Given the description of an element on the screen output the (x, y) to click on. 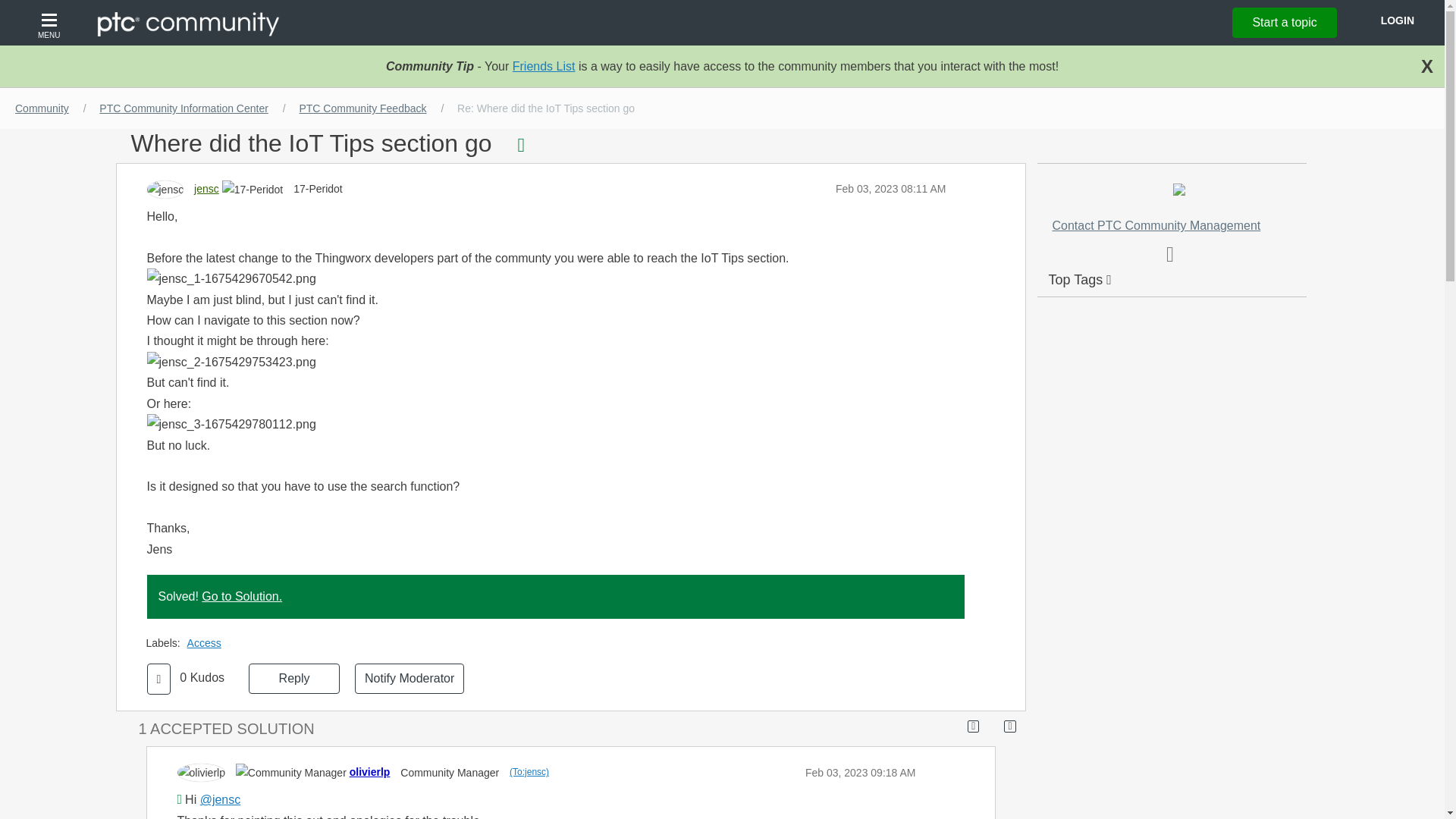
PTC Community Feedback (362, 108)
Reply (293, 678)
jensc (206, 188)
Access (207, 643)
Go to solution (989, 143)
Go to Solution. (242, 595)
PTC Community Information Center (183, 108)
Friends List (543, 65)
olivierlp (369, 771)
LOGIN (1396, 20)
Start a topic (1283, 22)
Notify Moderator (409, 678)
Community (42, 108)
MENU (50, 22)
